Given the description of an element on the screen output the (x, y) to click on. 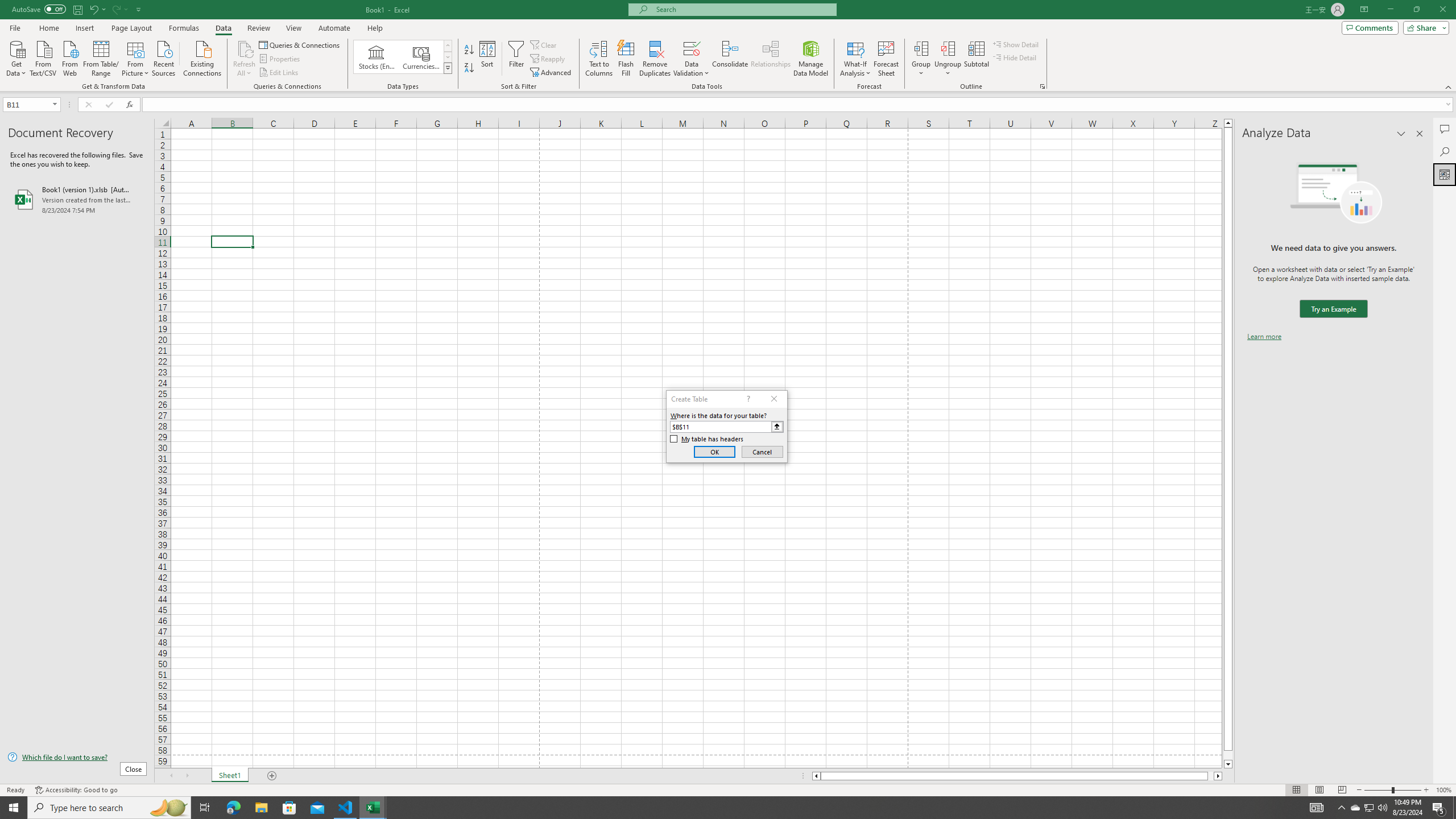
Sort... (487, 58)
Filter (515, 58)
Show Detail (1016, 44)
Sort Z to A (469, 67)
Properties (280, 58)
